Given the description of an element on the screen output the (x, y) to click on. 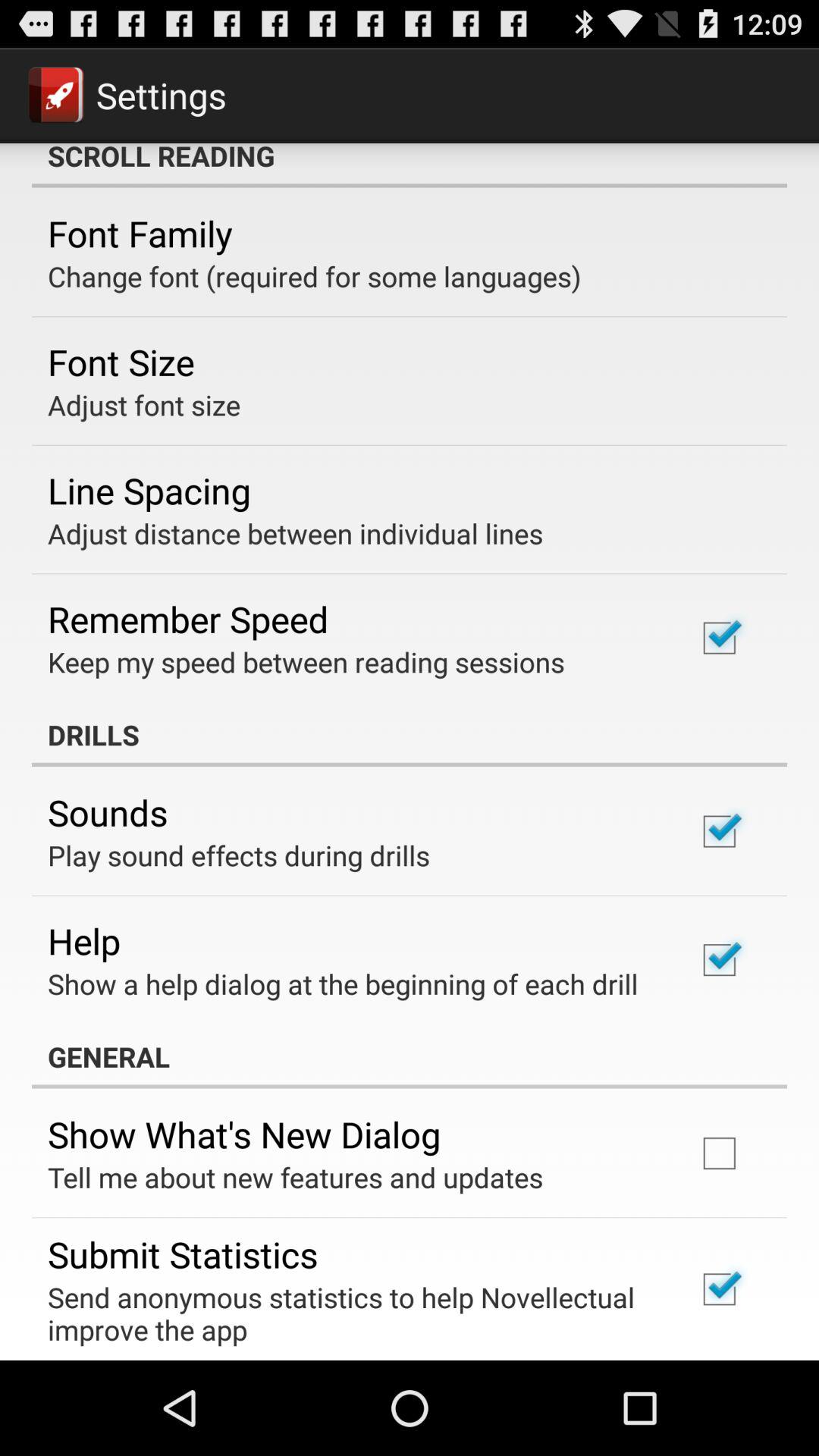
launch app below the remember speed app (305, 661)
